Given the description of an element on the screen output the (x, y) to click on. 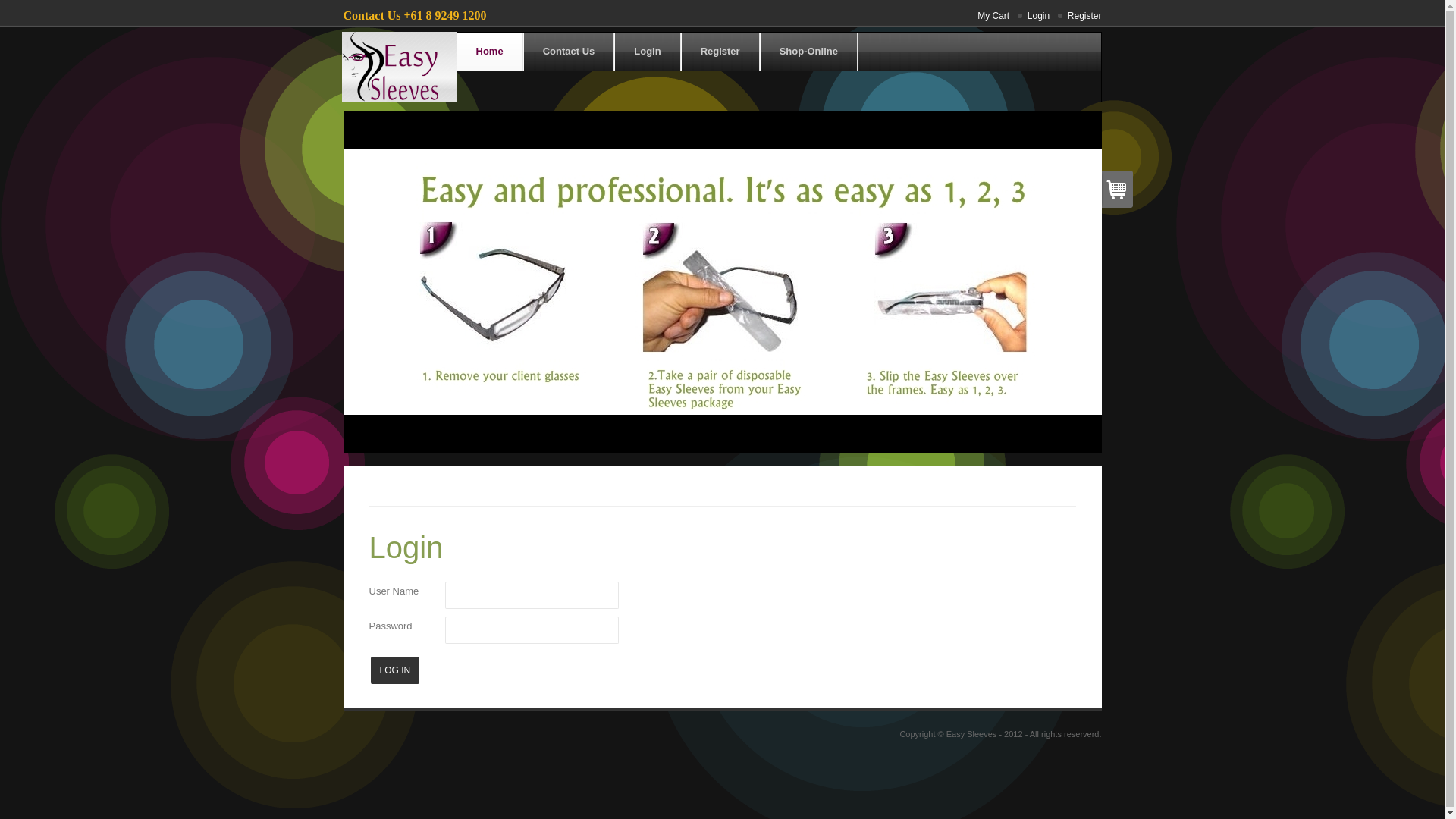
Contact Us Element type: text (569, 51)
Register Element type: text (720, 51)
Register Element type: text (1076, 15)
Shop-Online Element type: text (808, 51)
Login Element type: text (1030, 15)
LOG IN Element type: text (394, 670)
Login Element type: text (647, 51)
Home Element type: text (489, 51)
My Cart Element type: text (985, 15)
